Given the description of an element on the screen output the (x, y) to click on. 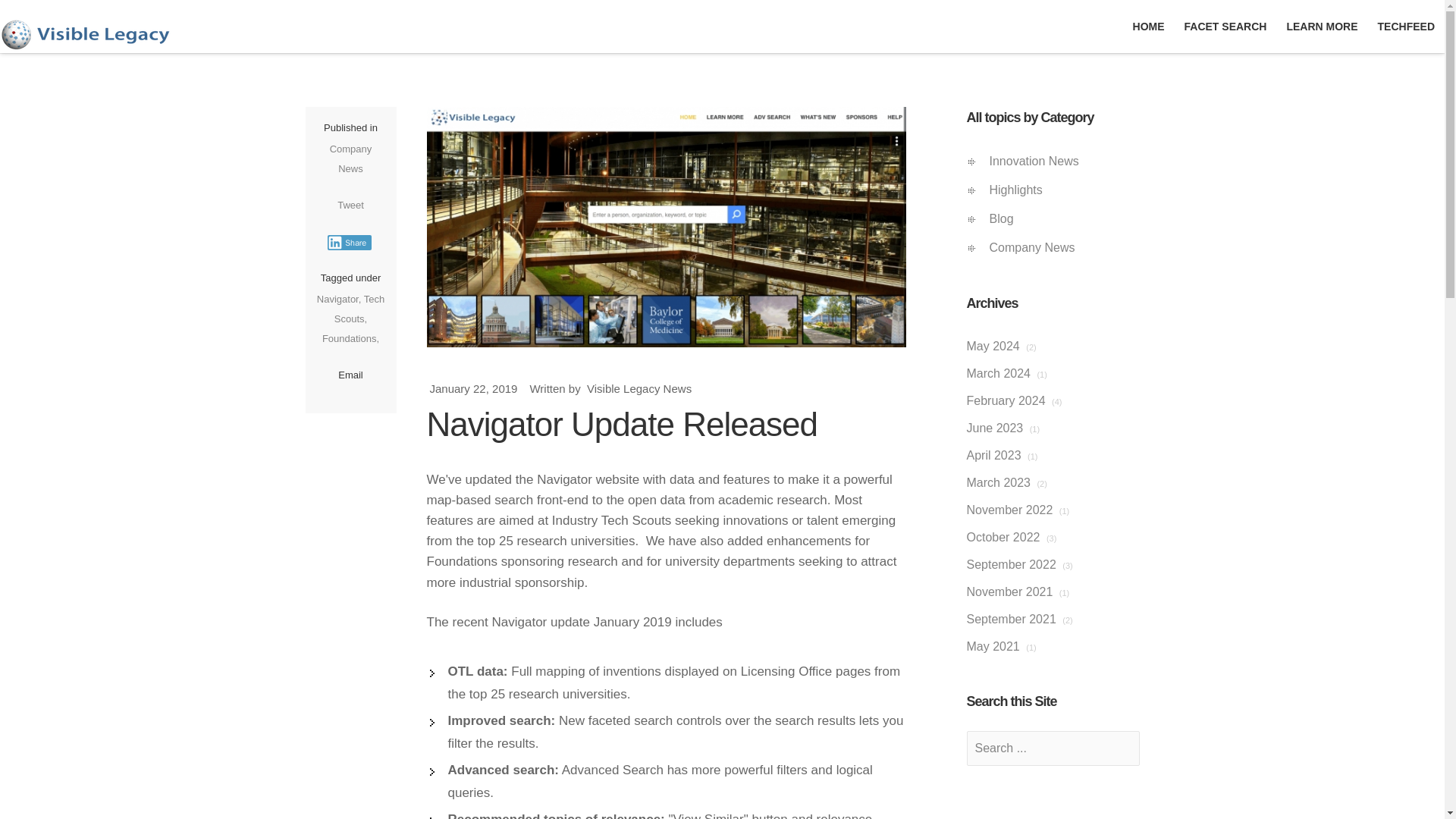
Email (349, 374)
Click to preview image (665, 227)
Blog (1063, 218)
Tweet (350, 204)
Search ... (1052, 748)
Tech Scouts, (359, 308)
Innovation News (1063, 161)
Share (349, 242)
Foundations, (349, 337)
Company News (351, 158)
Highlights (1063, 190)
Navigator, (340, 298)
Company News (1063, 247)
